Given the description of an element on the screen output the (x, y) to click on. 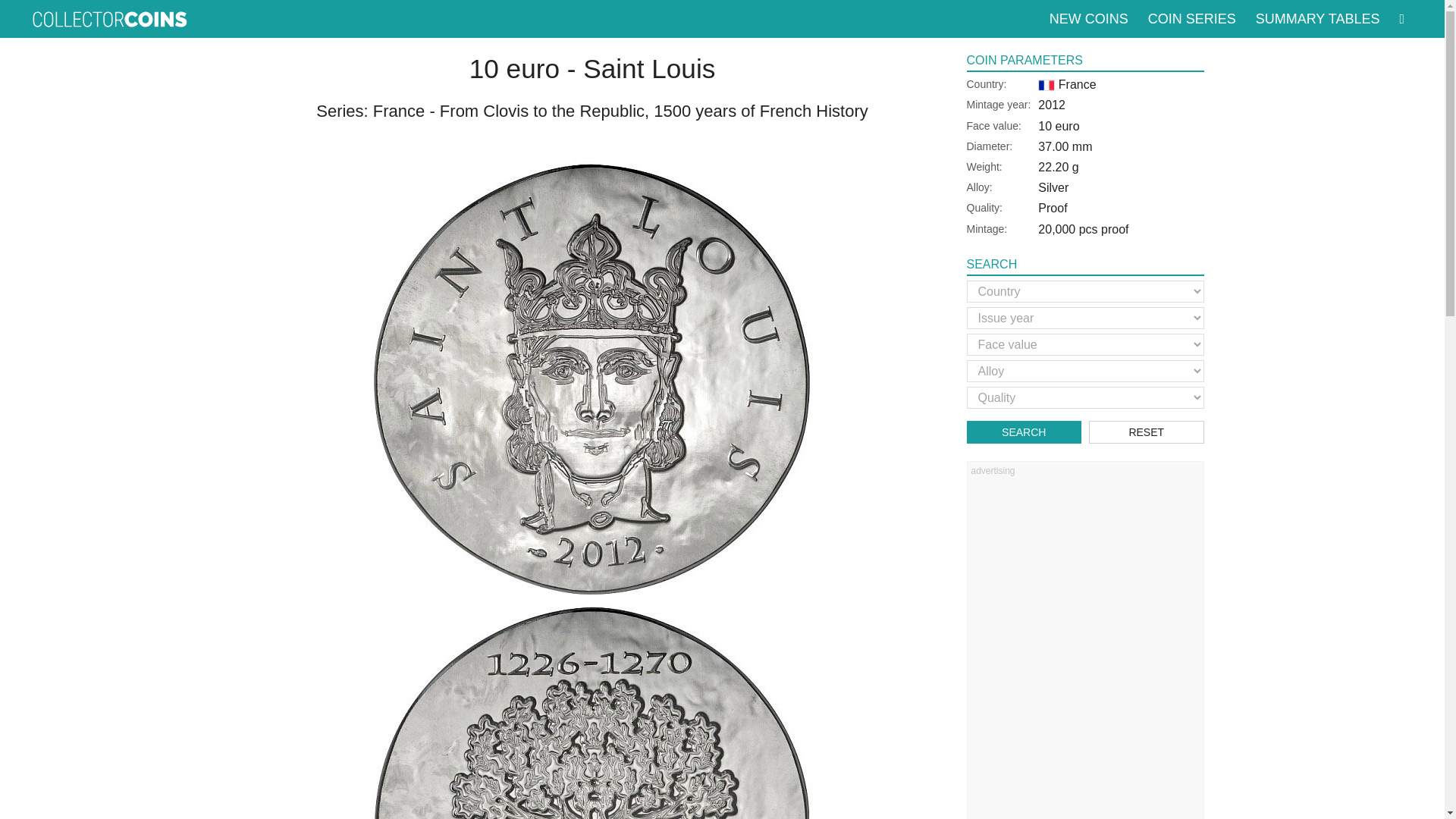
2012 (1051, 104)
Show coins from France (1067, 83)
RESET (1146, 431)
SUMMARY TABLES (1317, 19)
France (1067, 83)
COIN SERIES (1191, 19)
NEW COINS (1088, 19)
Show 10 euro coins from France (1058, 125)
Show coins 2012 from France (1051, 104)
10 euro (1058, 125)
Country summary coin tables (1317, 19)
New coins in the database (1088, 19)
SEARCH (1023, 431)
